Given the description of an element on the screen output the (x, y) to click on. 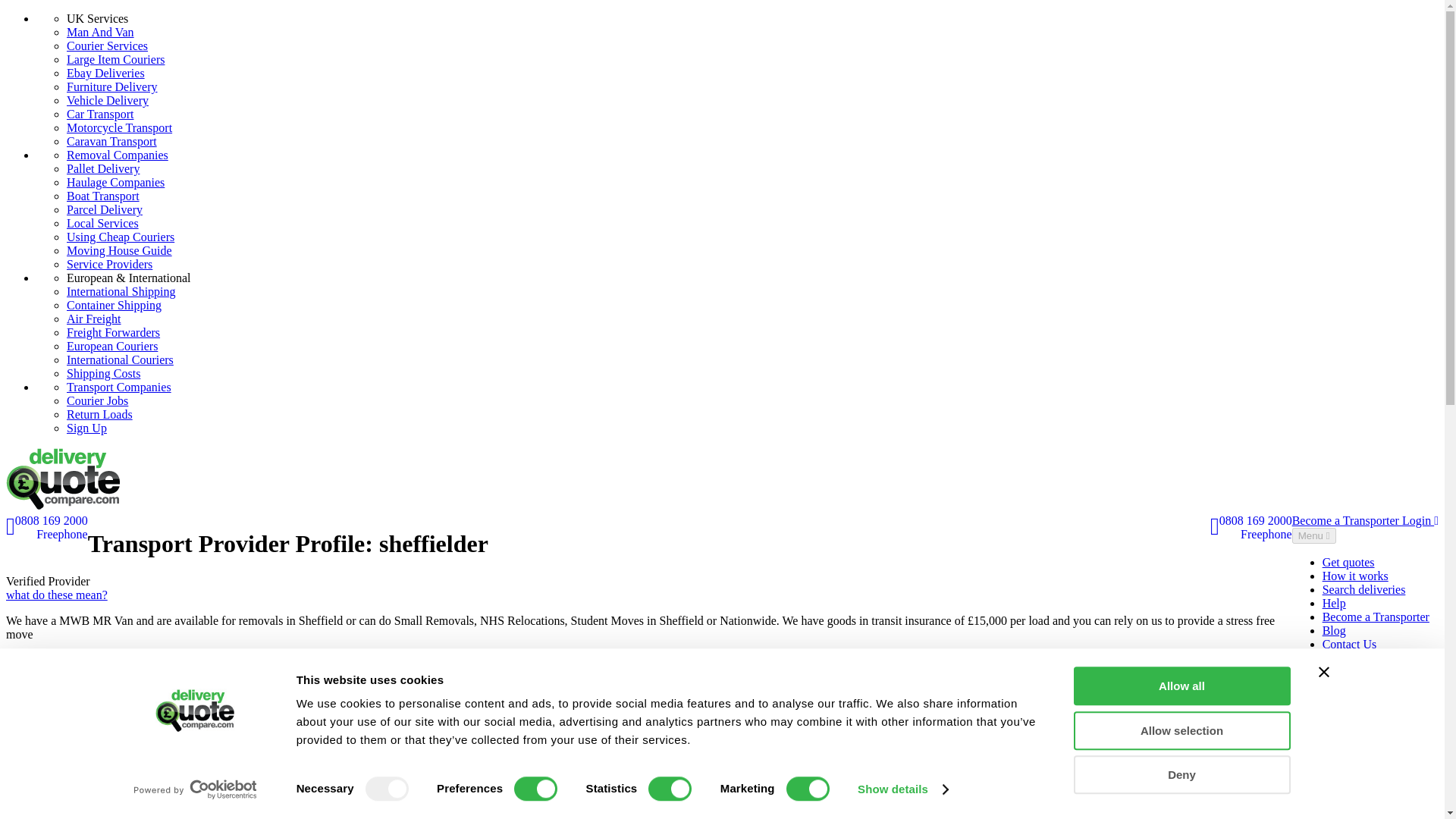
Show details (902, 789)
